Given the description of an element on the screen output the (x, y) to click on. 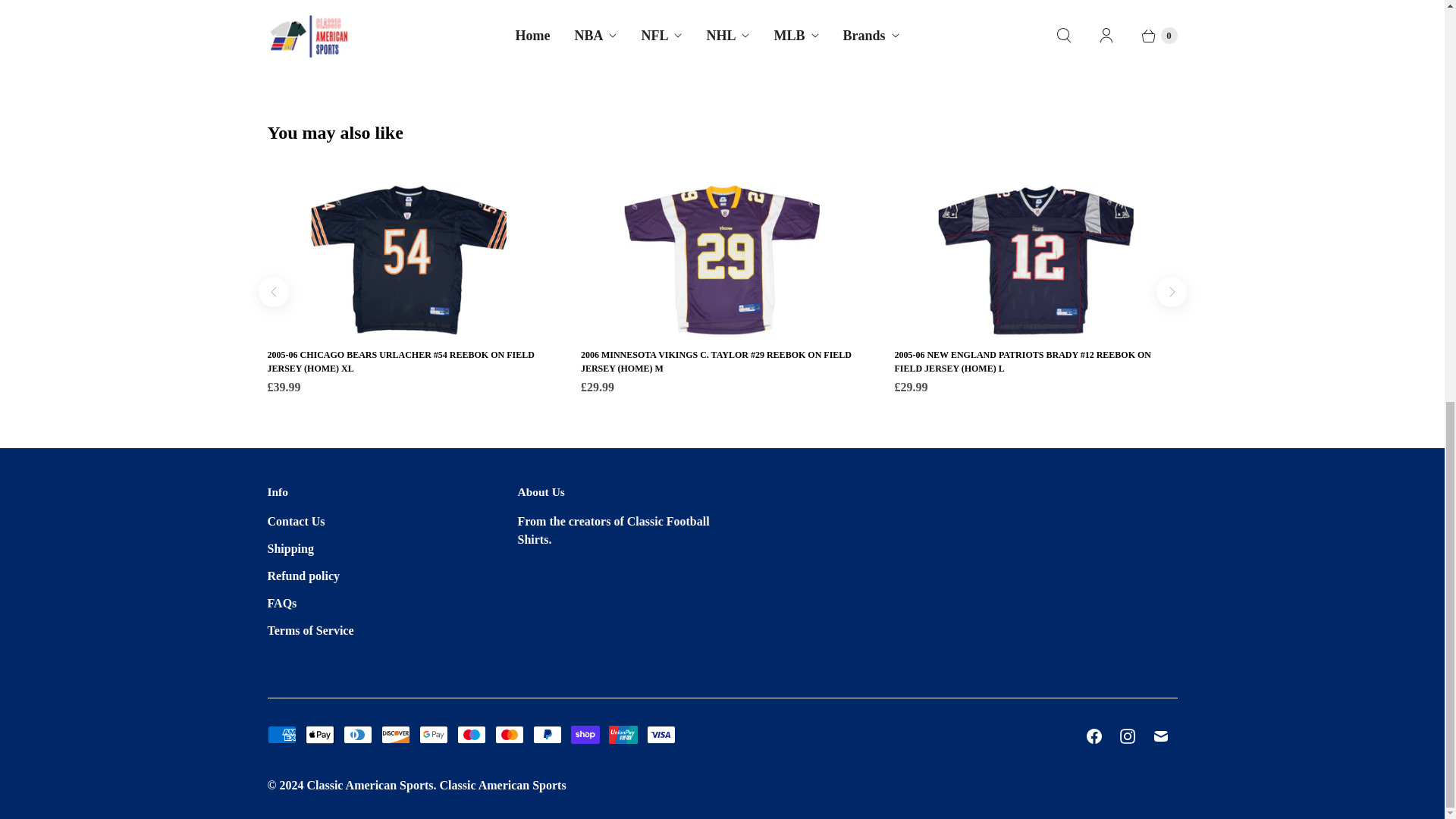
Shop Pay (584, 734)
American Express (280, 734)
Diners Club (356, 734)
Discover (394, 734)
Maestro (470, 734)
Apple Pay (318, 734)
PayPal (546, 734)
Mastercard (508, 734)
Google Pay (432, 734)
